Given the description of an element on the screen output the (x, y) to click on. 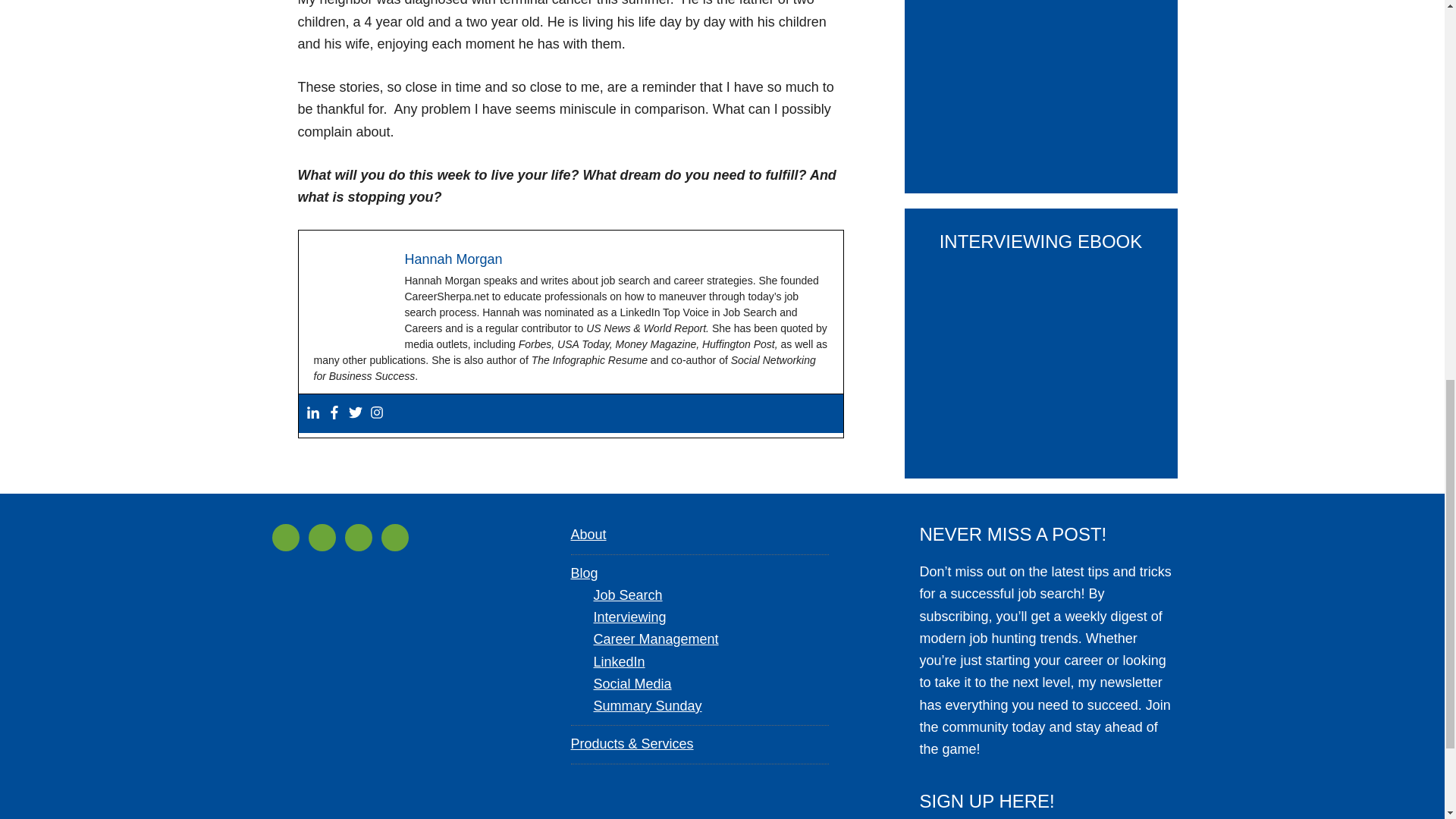
Linkedin (312, 413)
Twitter (355, 413)
Hannah Morgan (453, 258)
Facebook (333, 413)
Instagram (376, 413)
